Given the description of an element on the screen output the (x, y) to click on. 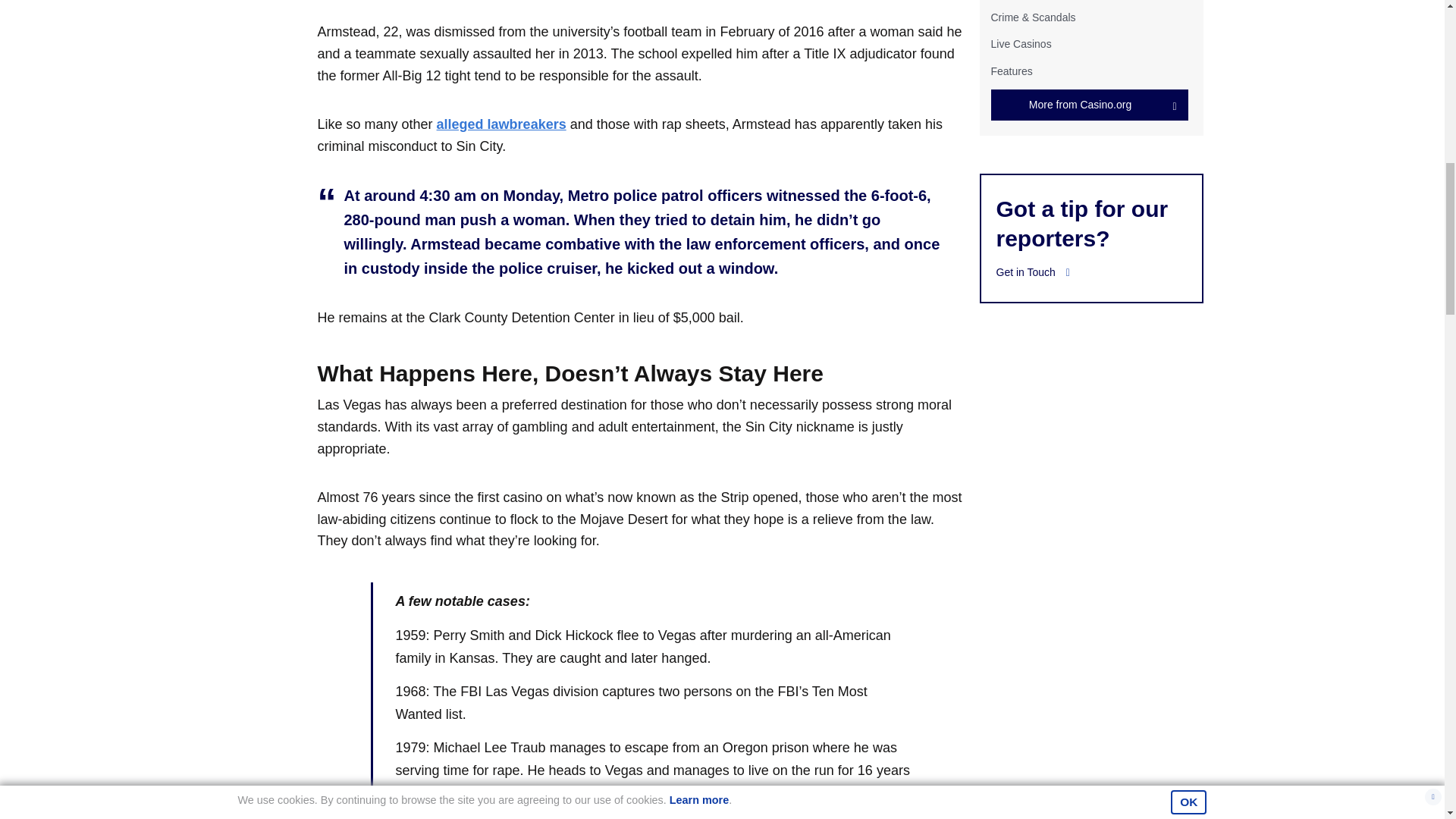
alleged lawbreakers (501, 124)
Live Casinos (1020, 43)
Features (1011, 70)
